Given the description of an element on the screen output the (x, y) to click on. 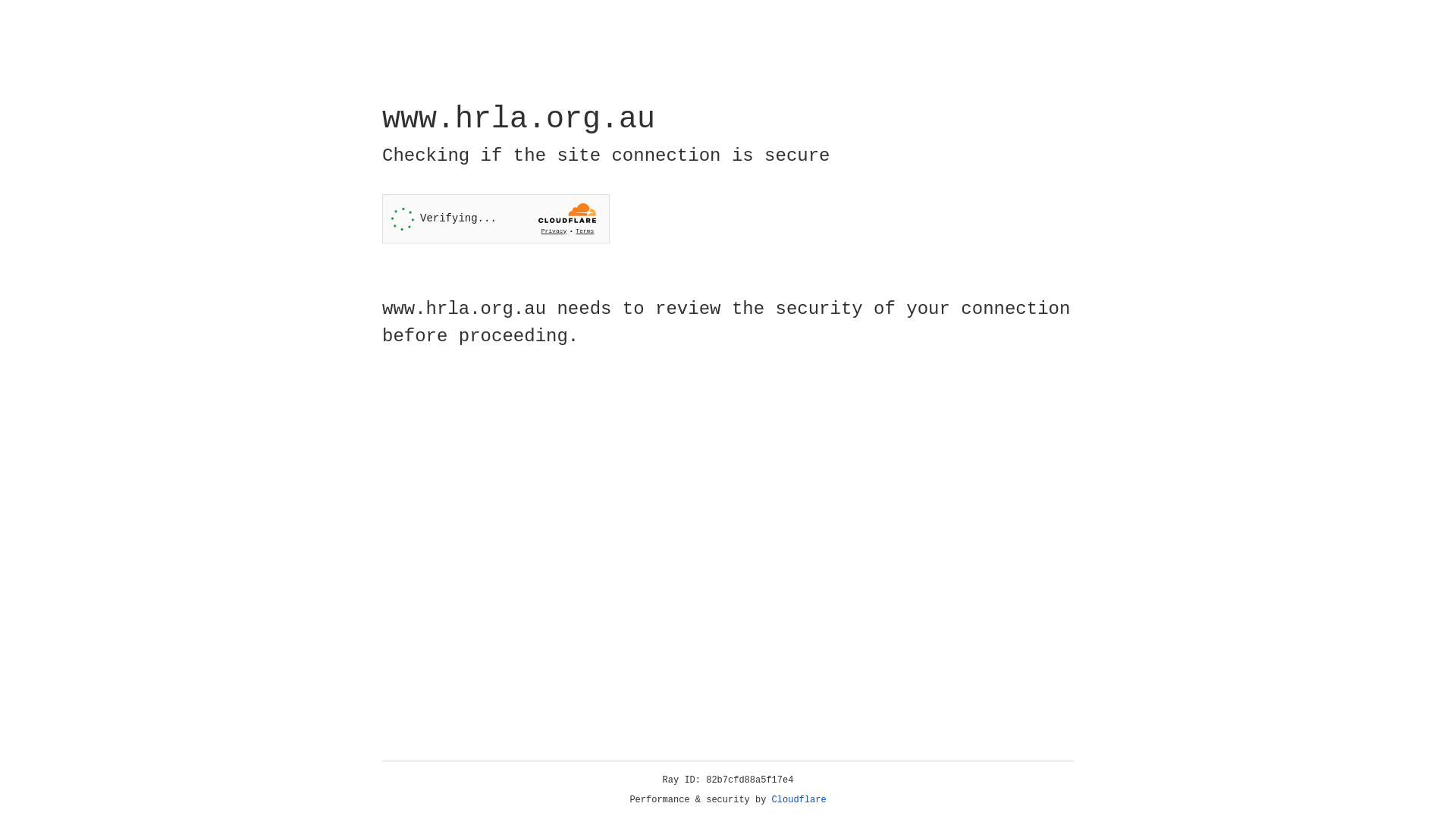
Cloudflare Element type: text (798, 799)
Widget containing a Cloudflare security challenge Element type: hover (495, 218)
